Given the description of an element on the screen output the (x, y) to click on. 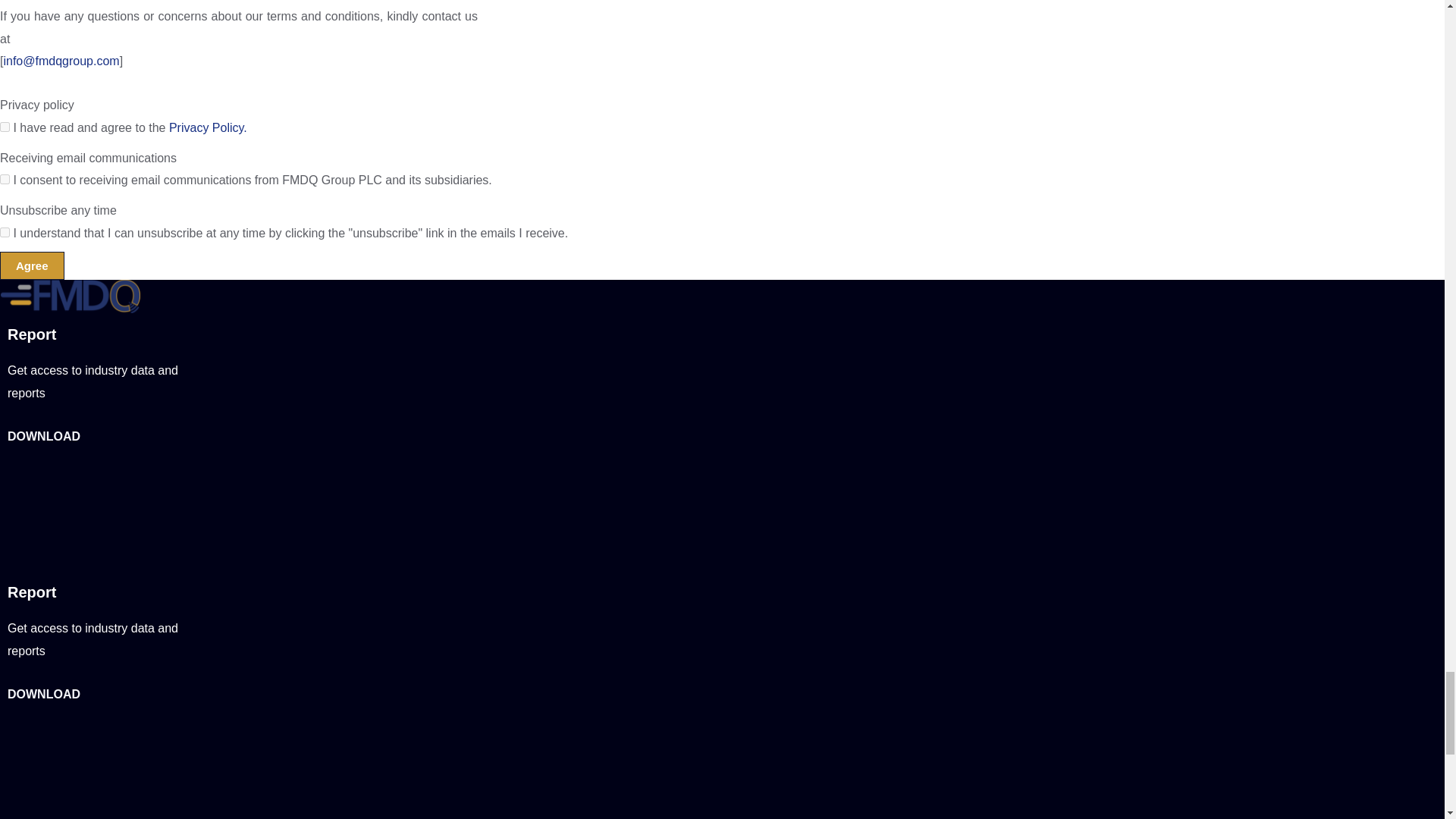
on (5, 179)
on (5, 126)
on (5, 232)
